Given the description of an element on the screen output the (x, y) to click on. 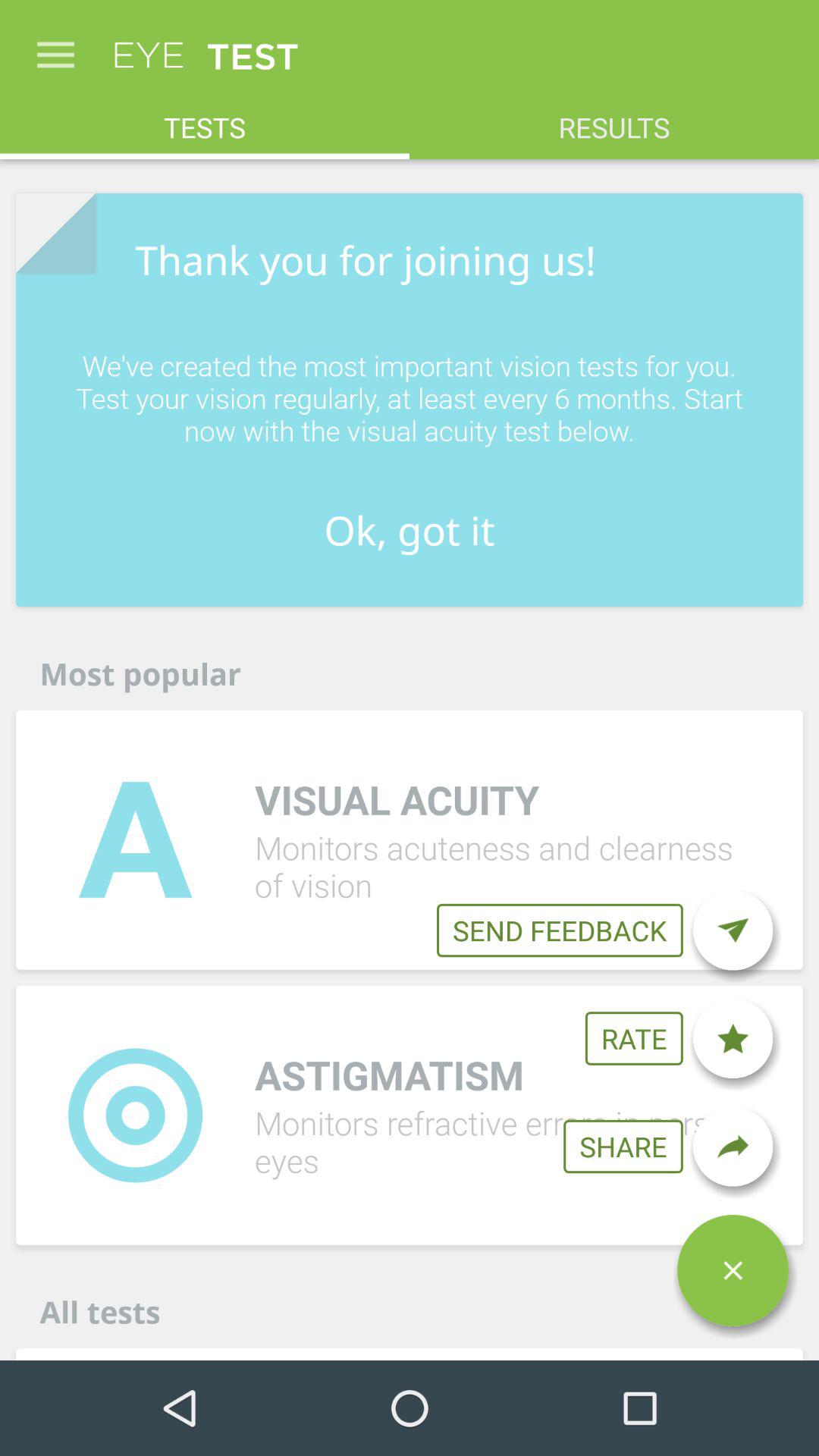
closes element (733, 1270)
